Given the description of an element on the screen output the (x, y) to click on. 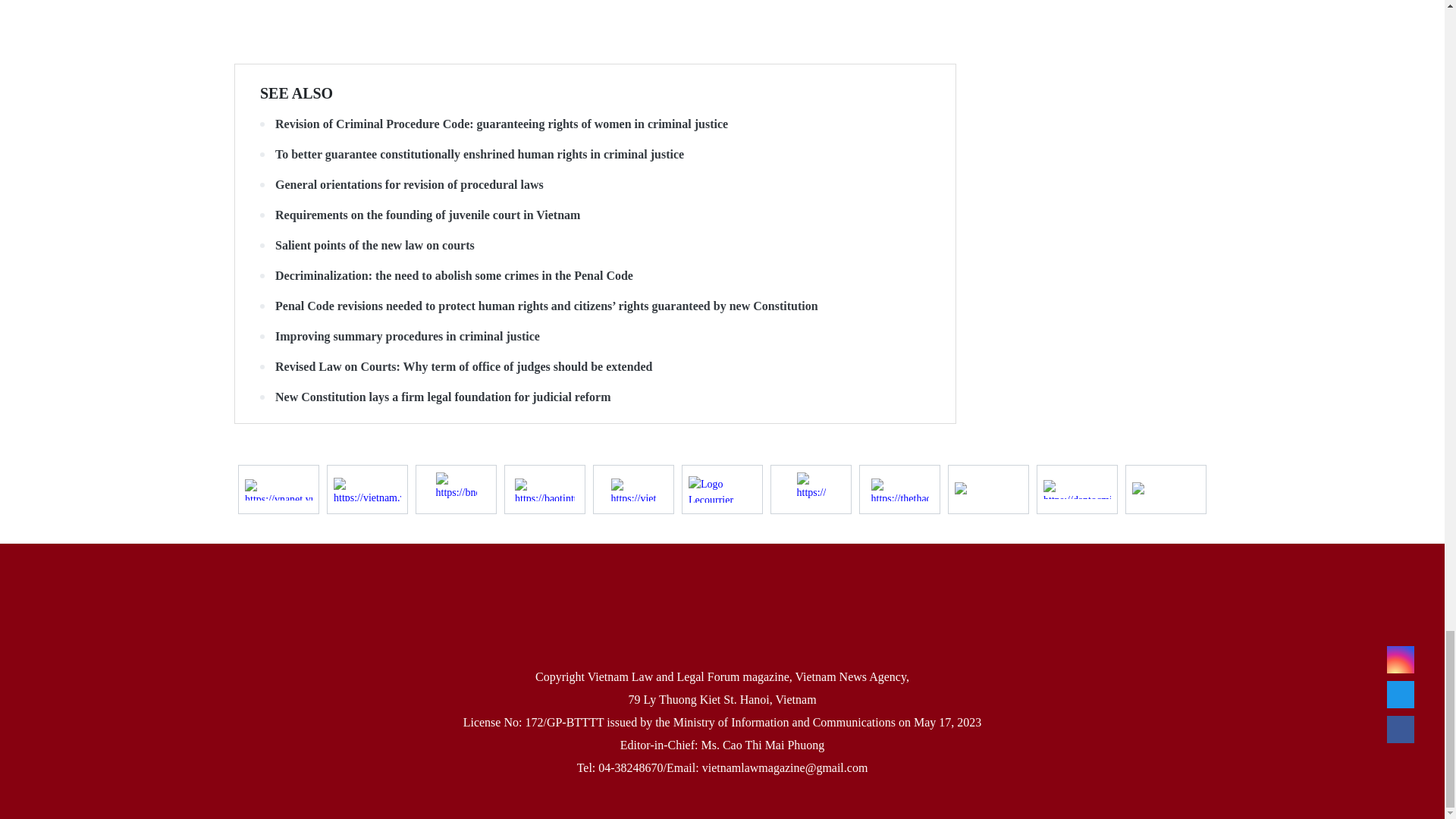
Salient points of the new law on courts (595, 245)
Requirements on the founding of juvenile court in Vietnam (595, 215)
Improving summary procedures in criminal justice (595, 336)
SEE ALSO (296, 93)
General orientations for revision of procedural laws (595, 184)
